Given the description of an element on the screen output the (x, y) to click on. 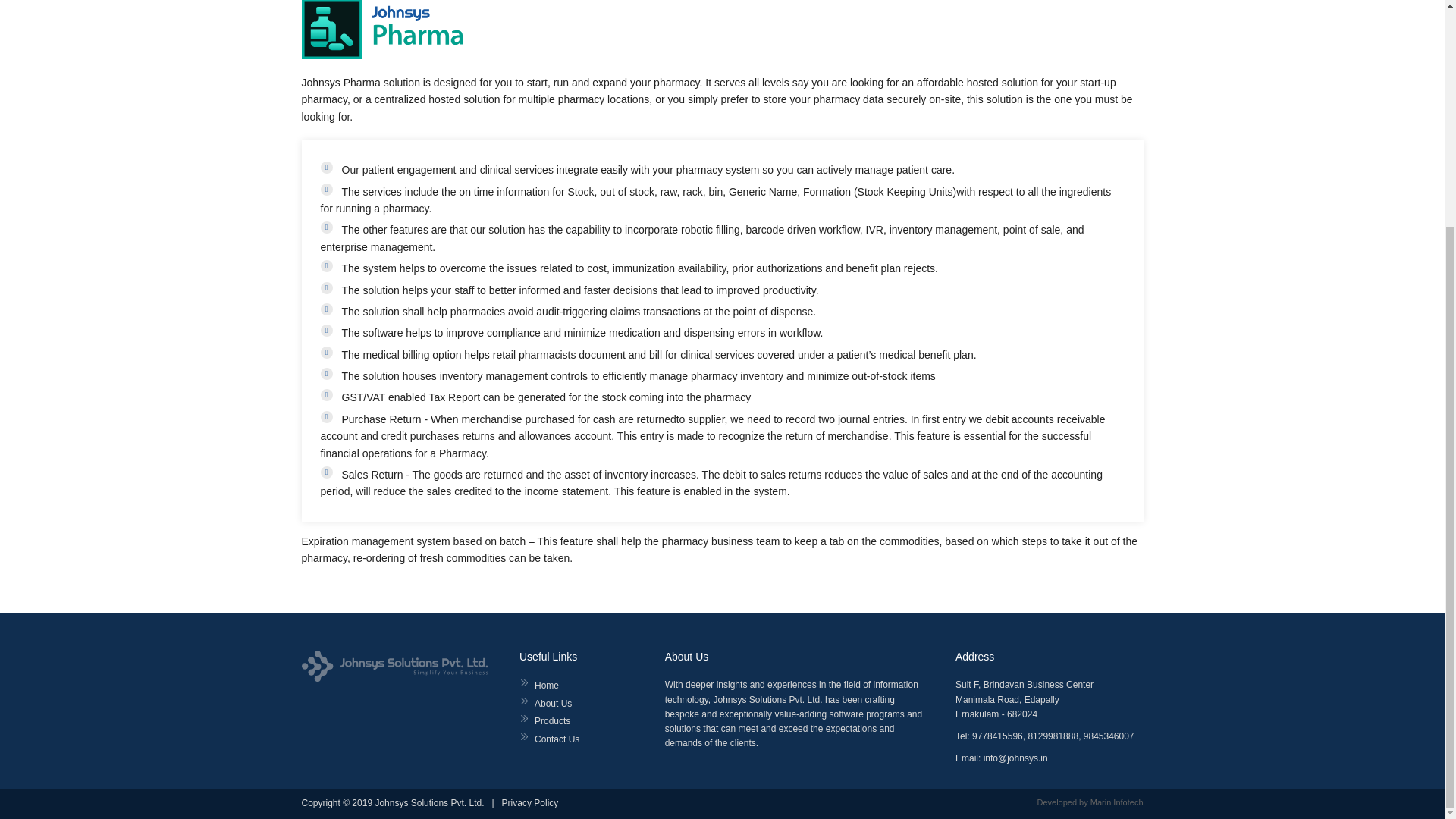
Privacy Policy (530, 802)
Marin Infotech (1116, 801)
Home (546, 685)
Contact Us (556, 738)
Products (552, 720)
About Us (553, 703)
